Given the description of an element on the screen output the (x, y) to click on. 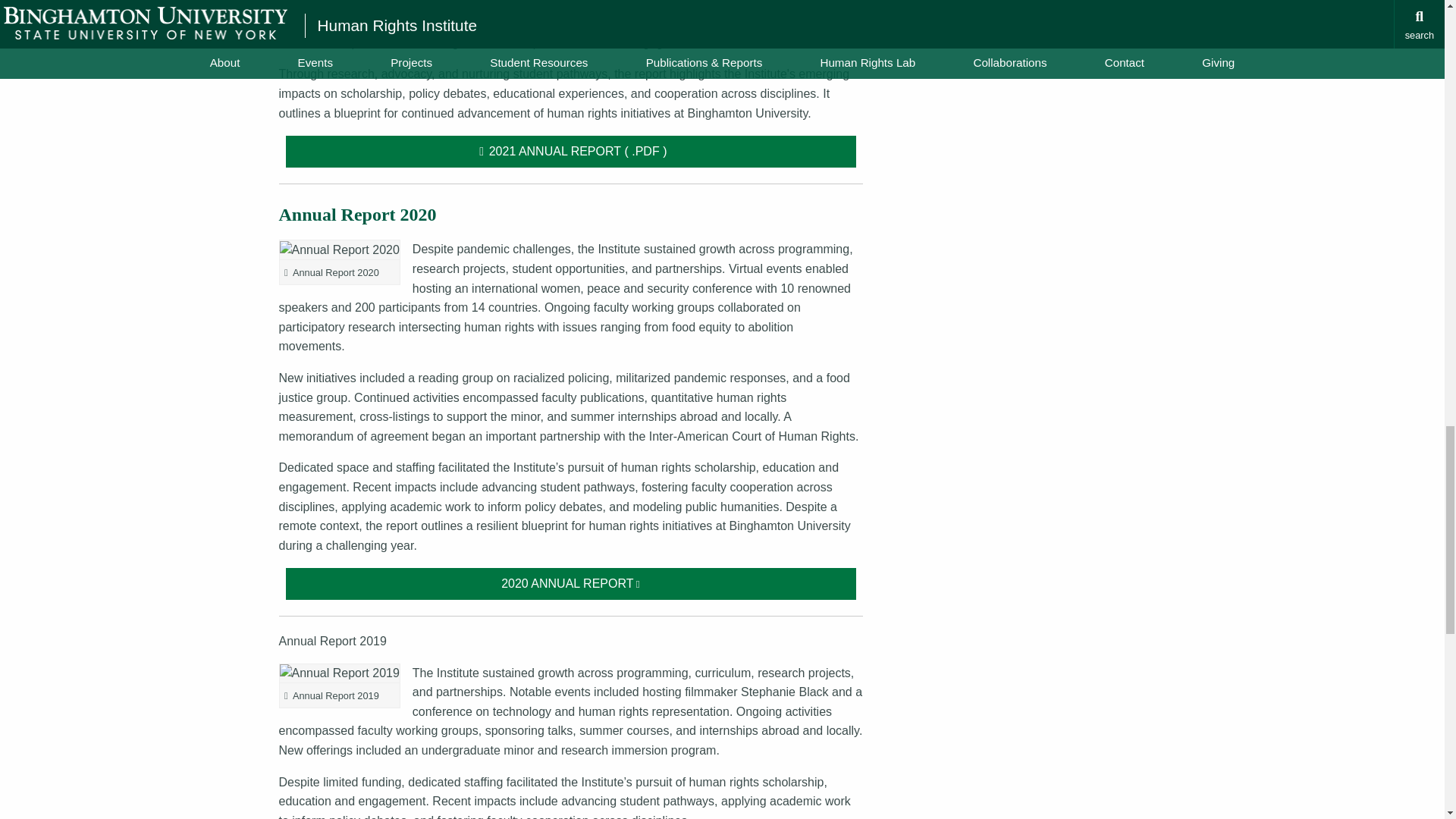
2020 Annual Report (571, 583)
2021 ANNUAL REPORT (571, 151)
2020 ANNUAL REPORT (571, 583)
